Given the description of an element on the screen output the (x, y) to click on. 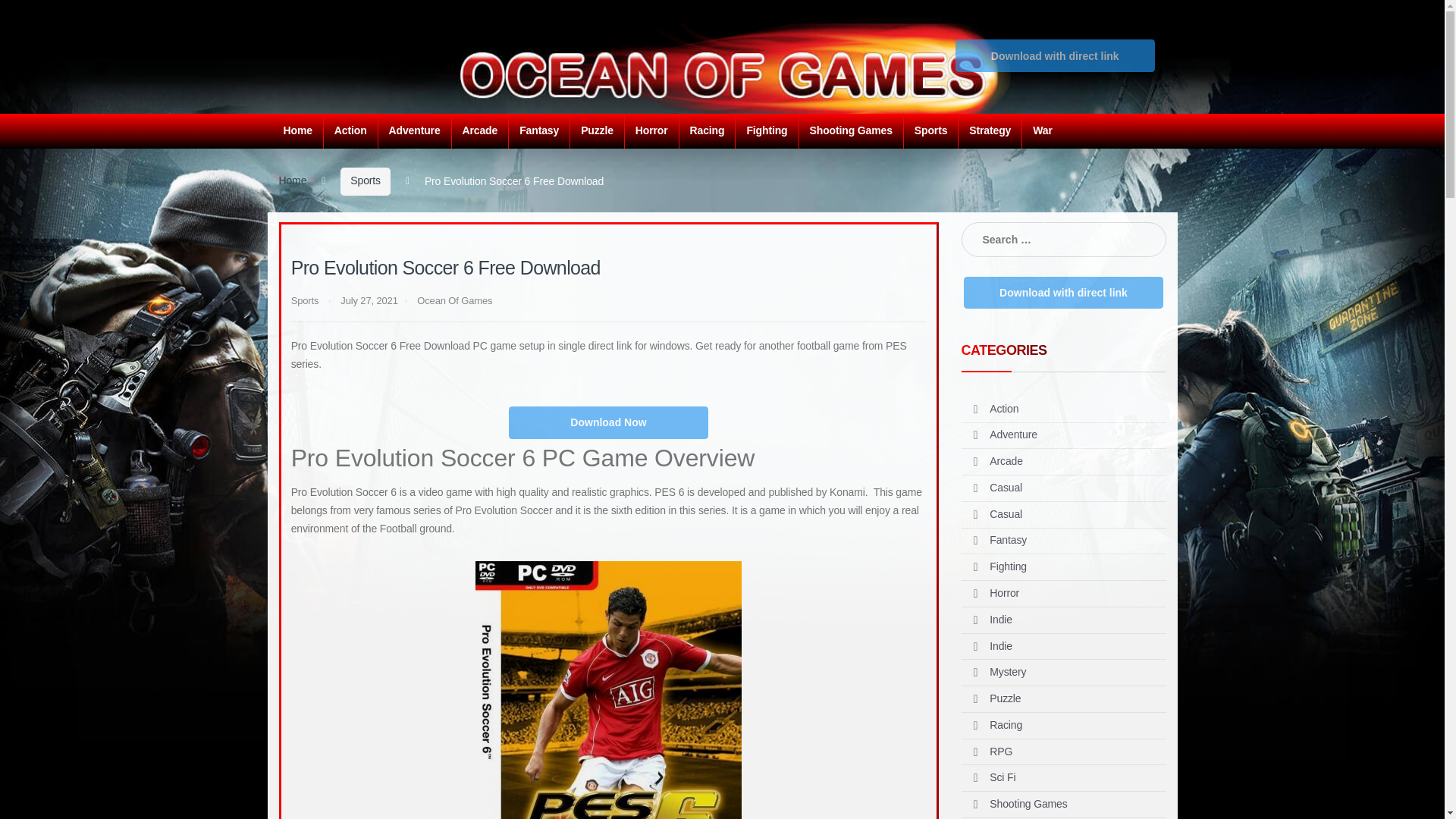
Action (350, 130)
Horror (651, 130)
Home (298, 130)
Action (350, 130)
Racing (706, 130)
Fantasy (538, 130)
Download with direct link (1054, 50)
War (1042, 130)
Fighting (766, 130)
Complete Game (1054, 55)
Puzzle (596, 130)
Strategy (990, 130)
Download with direct link (1054, 55)
Adventure (414, 130)
Shooting Games (849, 130)
